Given the description of an element on the screen output the (x, y) to click on. 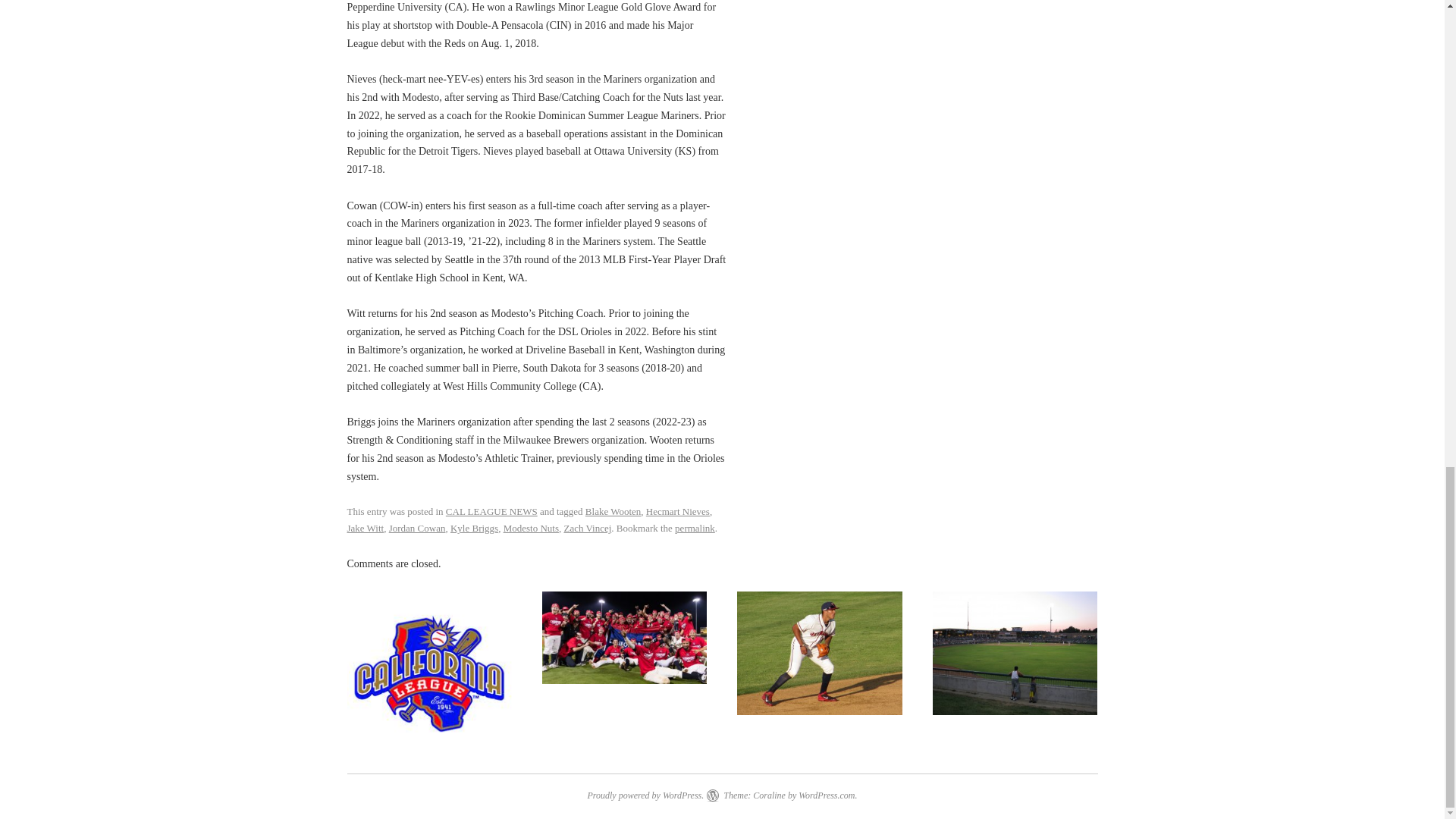
Hecmart Nieves (678, 511)
Zach Vincej (587, 527)
permalink (694, 527)
Jake Witt (365, 527)
Kyle Briggs (473, 527)
A Semantic Personal Publishing Platform (644, 795)
Modesto Nuts (531, 527)
Jordan Cowan (416, 527)
CAL LEAGUE NEWS (491, 511)
Blake Wooten (612, 511)
